Given the description of an element on the screen output the (x, y) to click on. 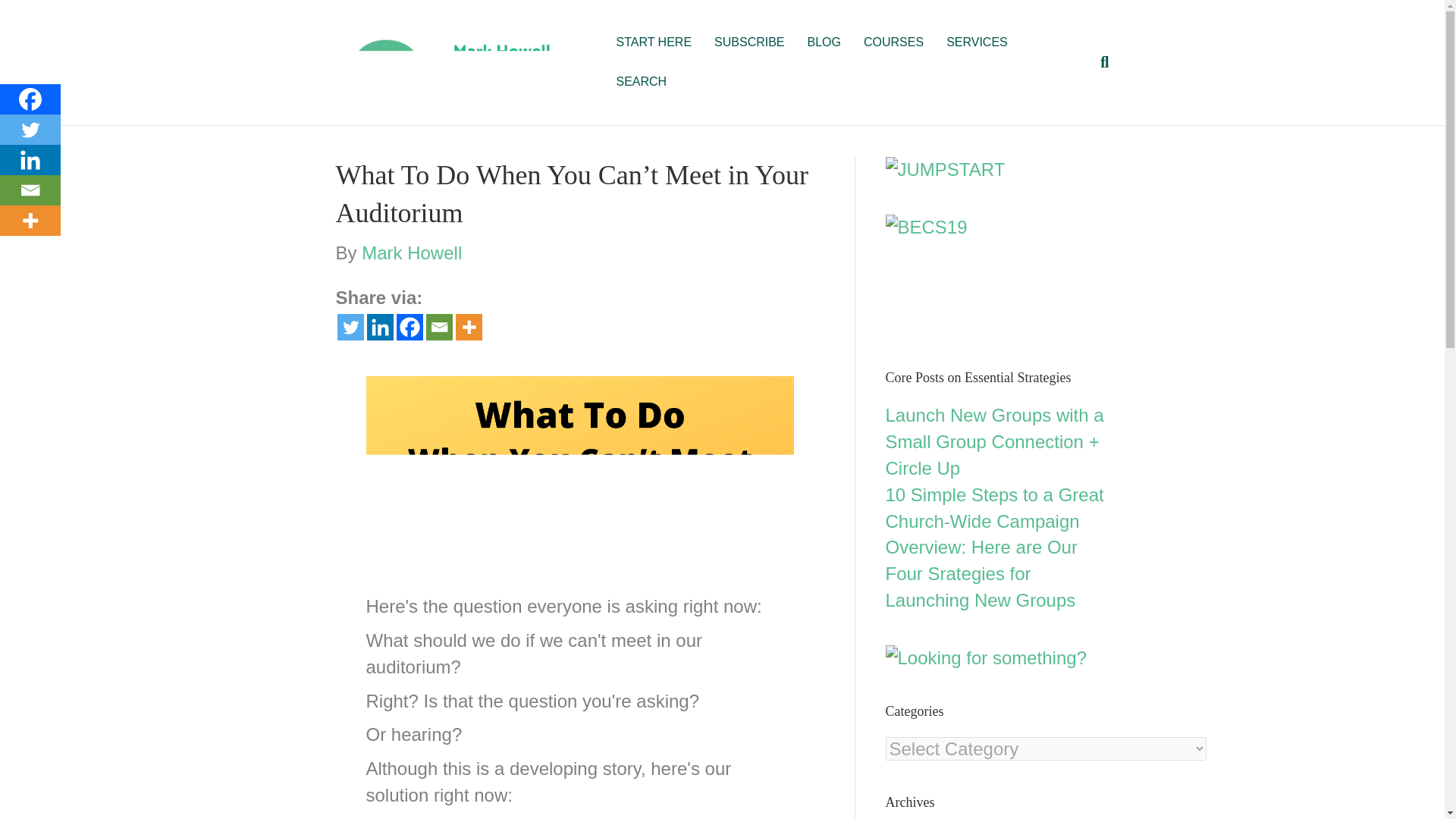
BLOG (823, 42)
START HERE (653, 42)
More (467, 326)
COURSES (892, 42)
Email (30, 190)
Email (439, 326)
10 Simple Steps to a Great Church-Wide Campaign (994, 507)
Twitter (349, 326)
SERVICES (976, 42)
Twitter (30, 129)
